Given the description of an element on the screen output the (x, y) to click on. 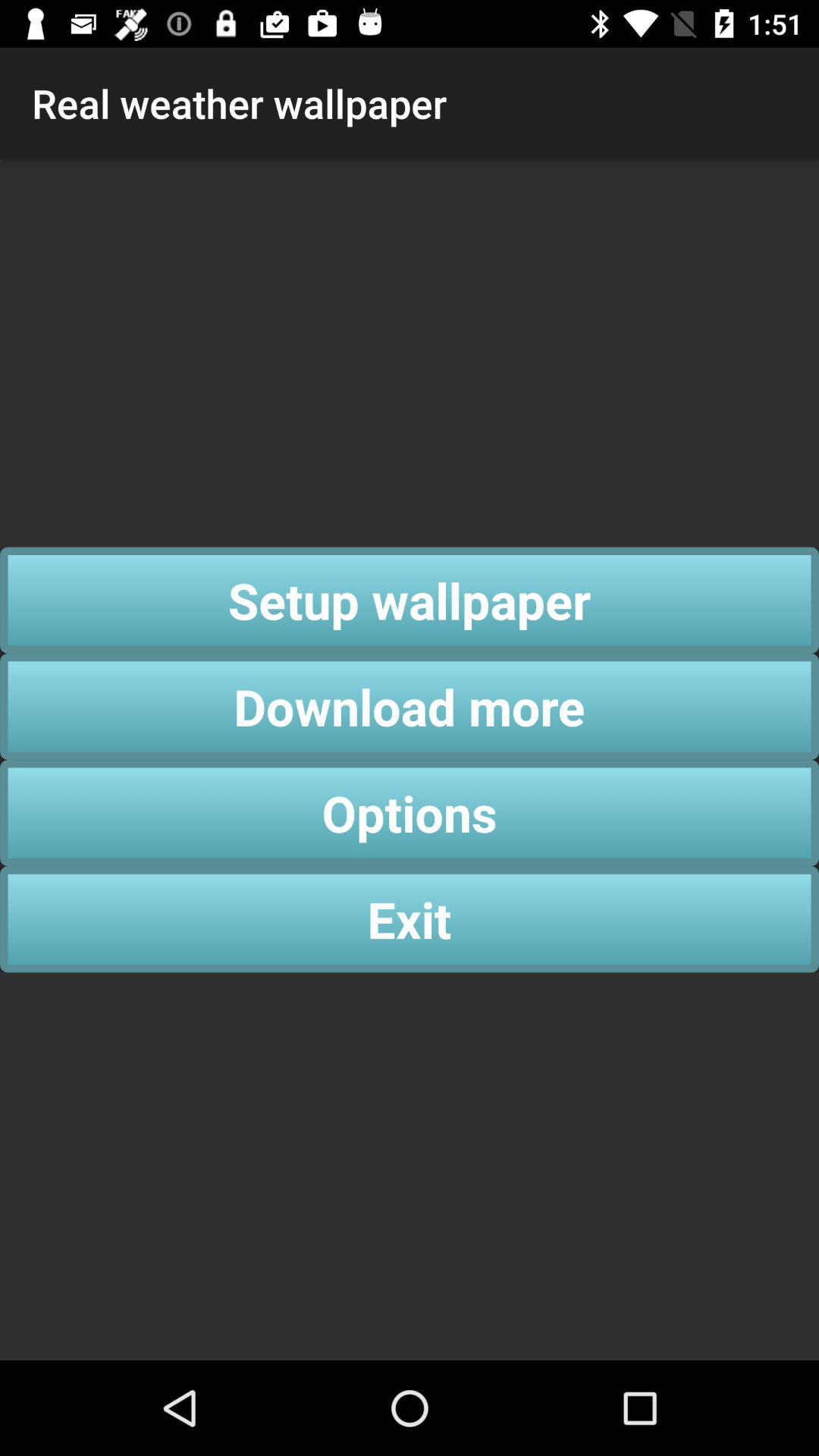
press the setup wallpaper (409, 600)
